Given the description of an element on the screen output the (x, y) to click on. 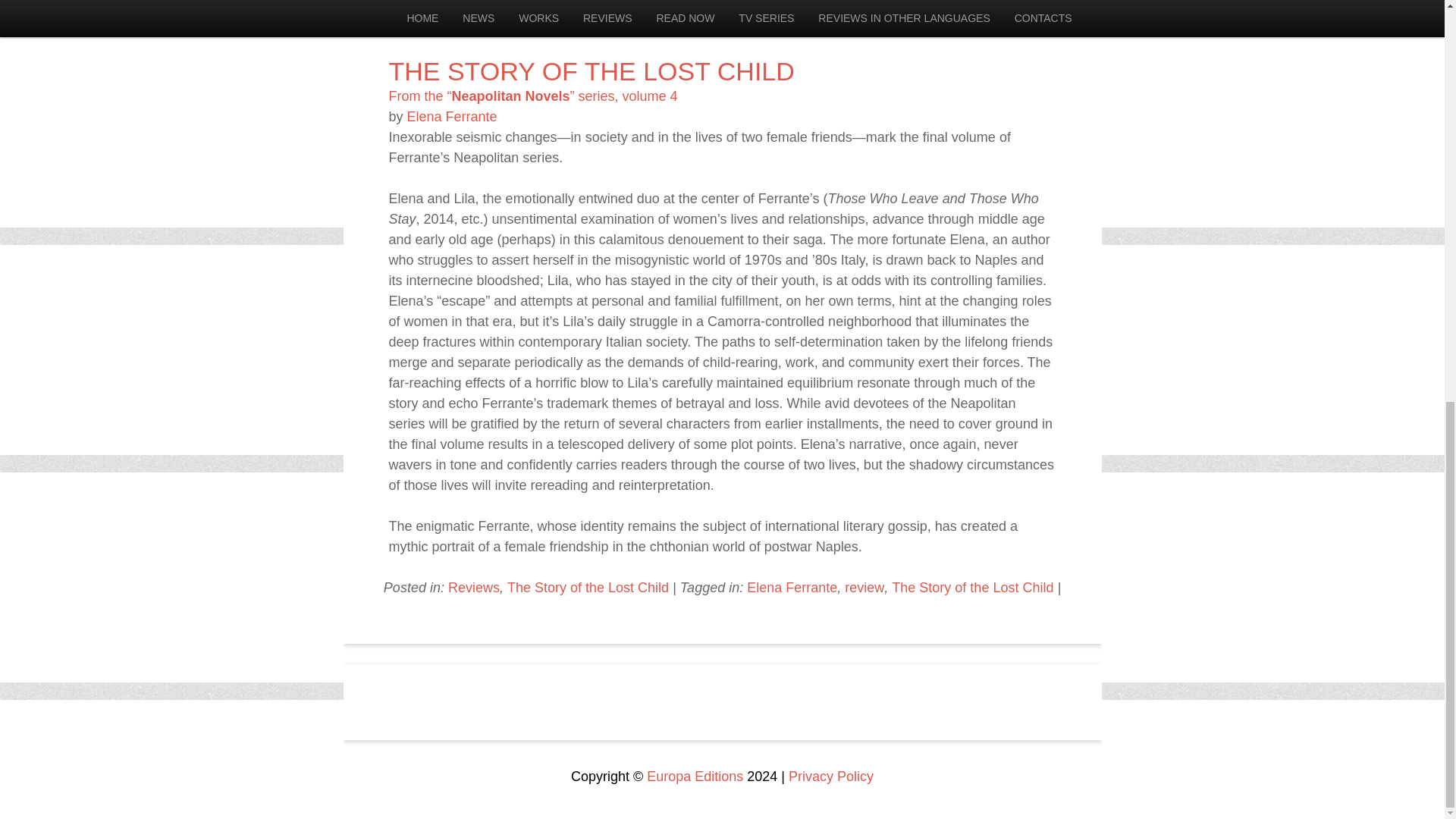
The Story of the Lost Child (587, 587)
8:33 am (753, 25)
Reviews (473, 587)
